Given the description of an element on the screen output the (x, y) to click on. 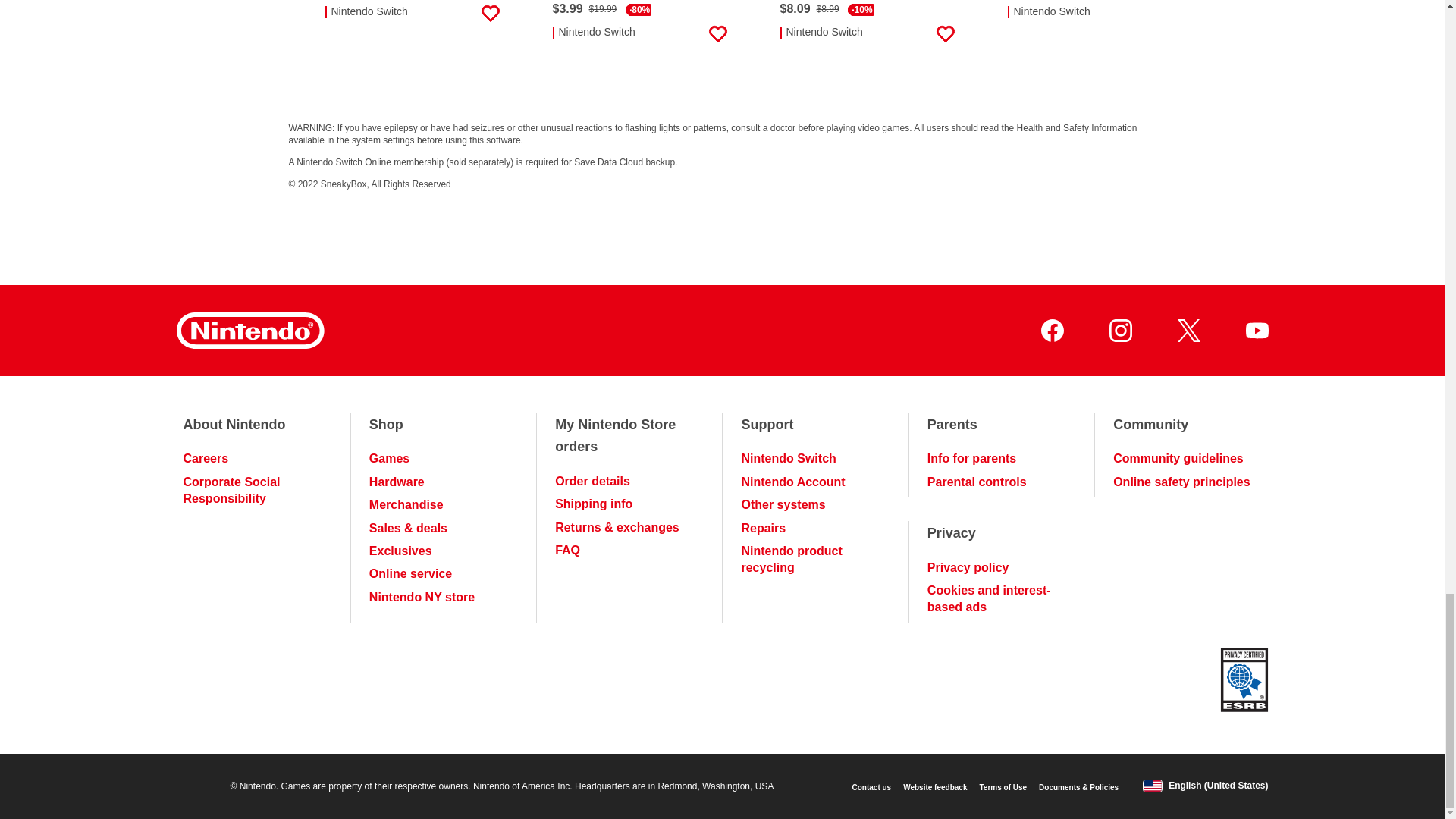
Nintendo on YouTube (1256, 330)
Add to Wish List (716, 34)
Nintendo Homepage (249, 330)
Add to Wish List (1172, 17)
Add to Wish List (944, 34)
Nintendo on Instagram (1119, 330)
Add to Wish List (489, 17)
Nintendo on Twitter (1187, 330)
Nintendo on Facebook (1051, 330)
